Given the description of an element on the screen output the (x, y) to click on. 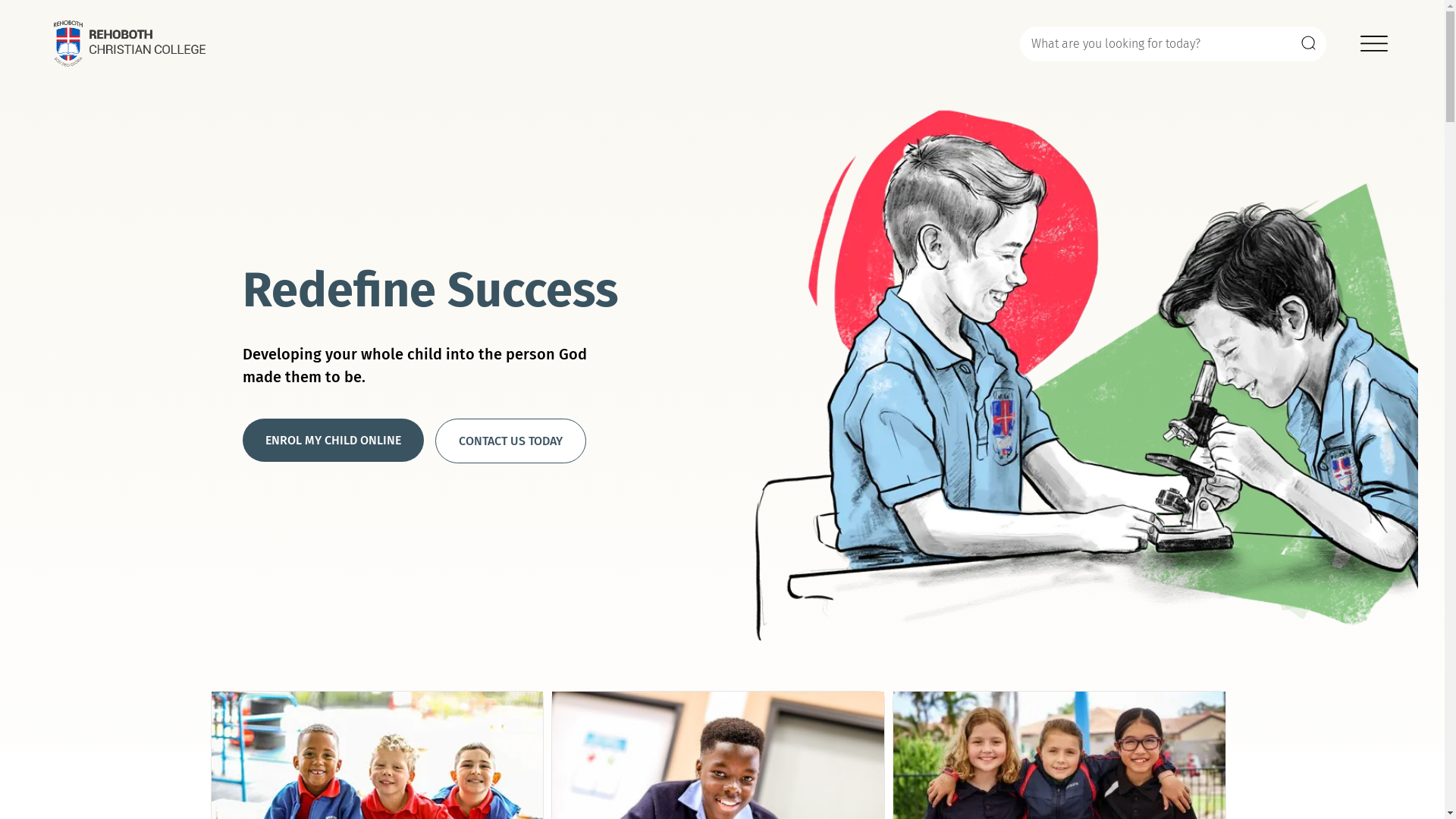
ENROL MY CHILD ONLINE Element type: text (332, 439)
CONTACT US TODAY Element type: text (510, 440)
